Given the description of an element on the screen output the (x, y) to click on. 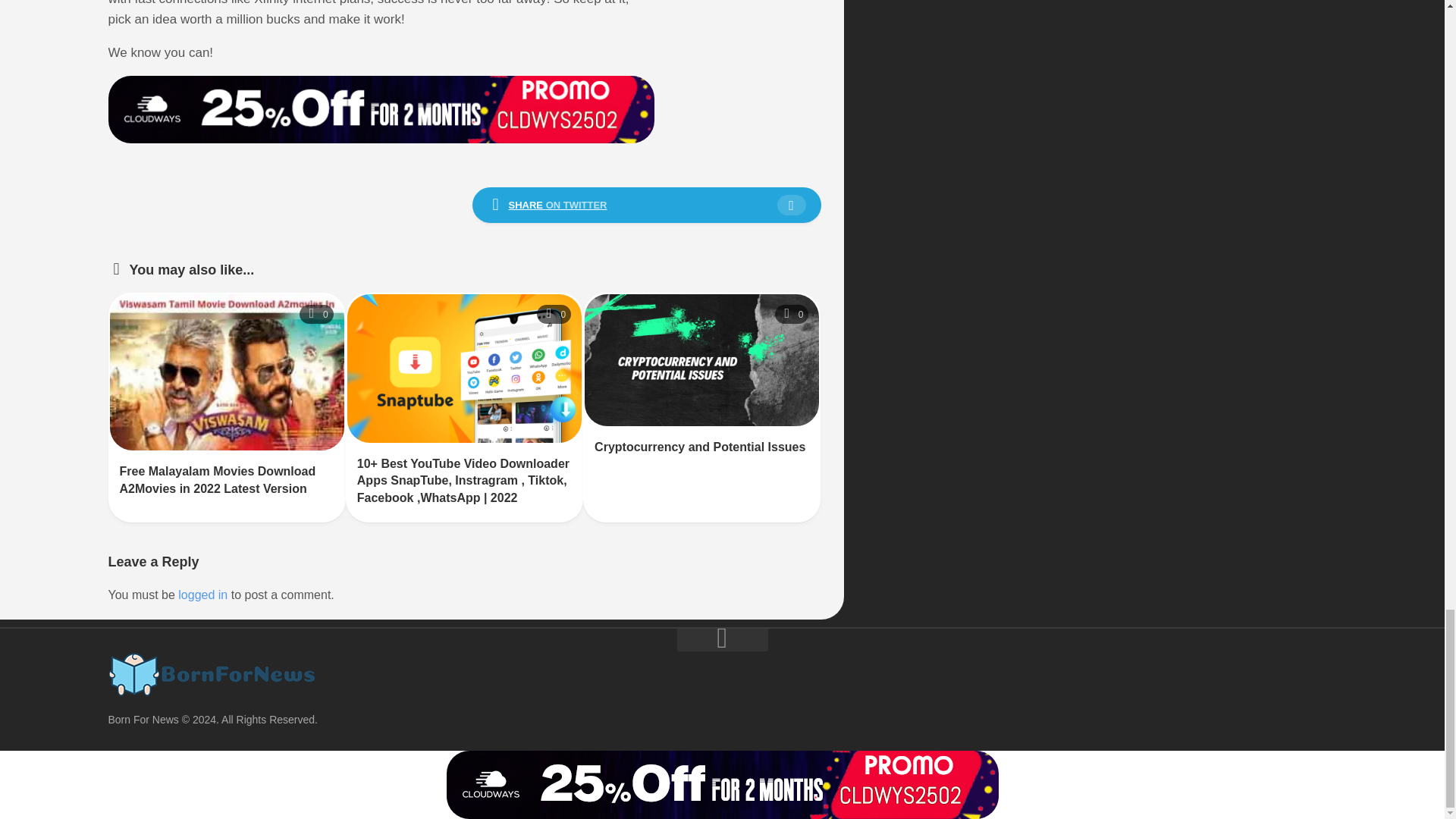
0 (316, 313)
0 (553, 313)
logged in (202, 594)
0 (791, 313)
Cryptocurrency and Potential Issues (699, 446)
Cryptocurrency and Potential Issues 3 (701, 359)
SHARE ON TWITTER (646, 204)
